Given the description of an element on the screen output the (x, y) to click on. 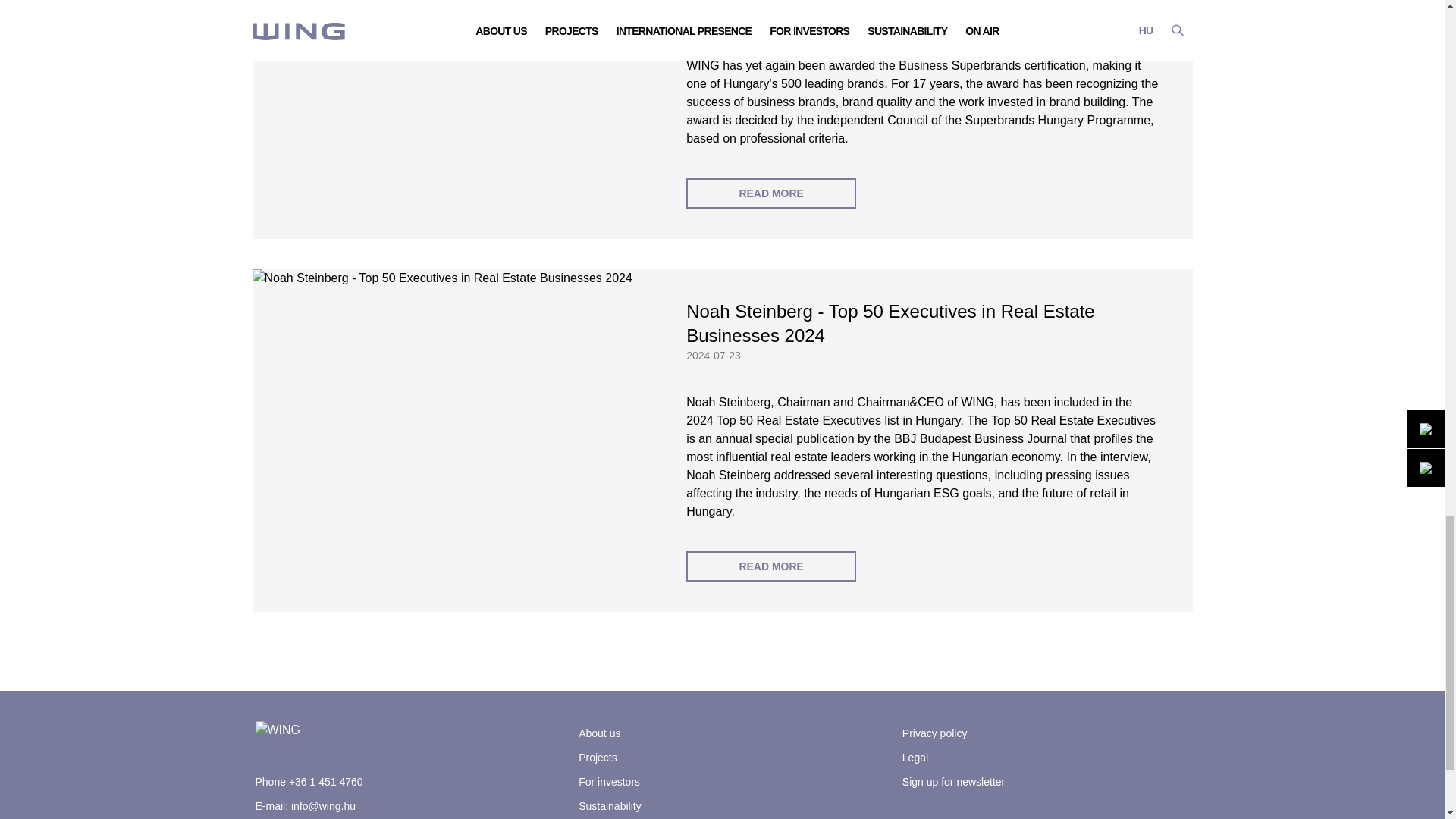
READ MORE (770, 566)
WING receives Business Superbrands award again (923, 5)
READ MORE (770, 193)
About us (599, 733)
For investors (609, 781)
Projects (597, 757)
